Given the description of an element on the screen output the (x, y) to click on. 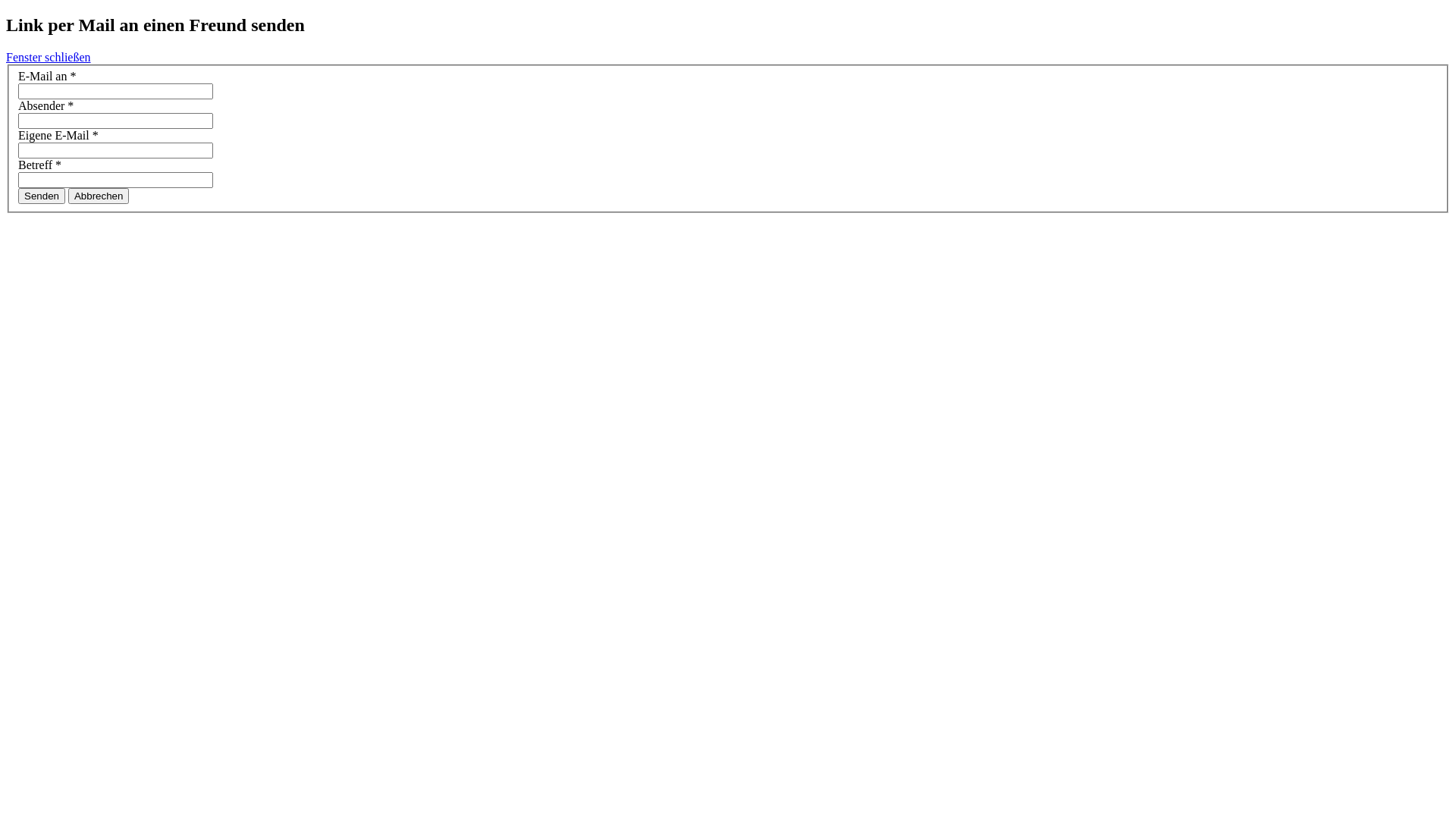
Senden Element type: text (41, 195)
Abbrechen Element type: text (98, 195)
